Given the description of an element on the screen output the (x, y) to click on. 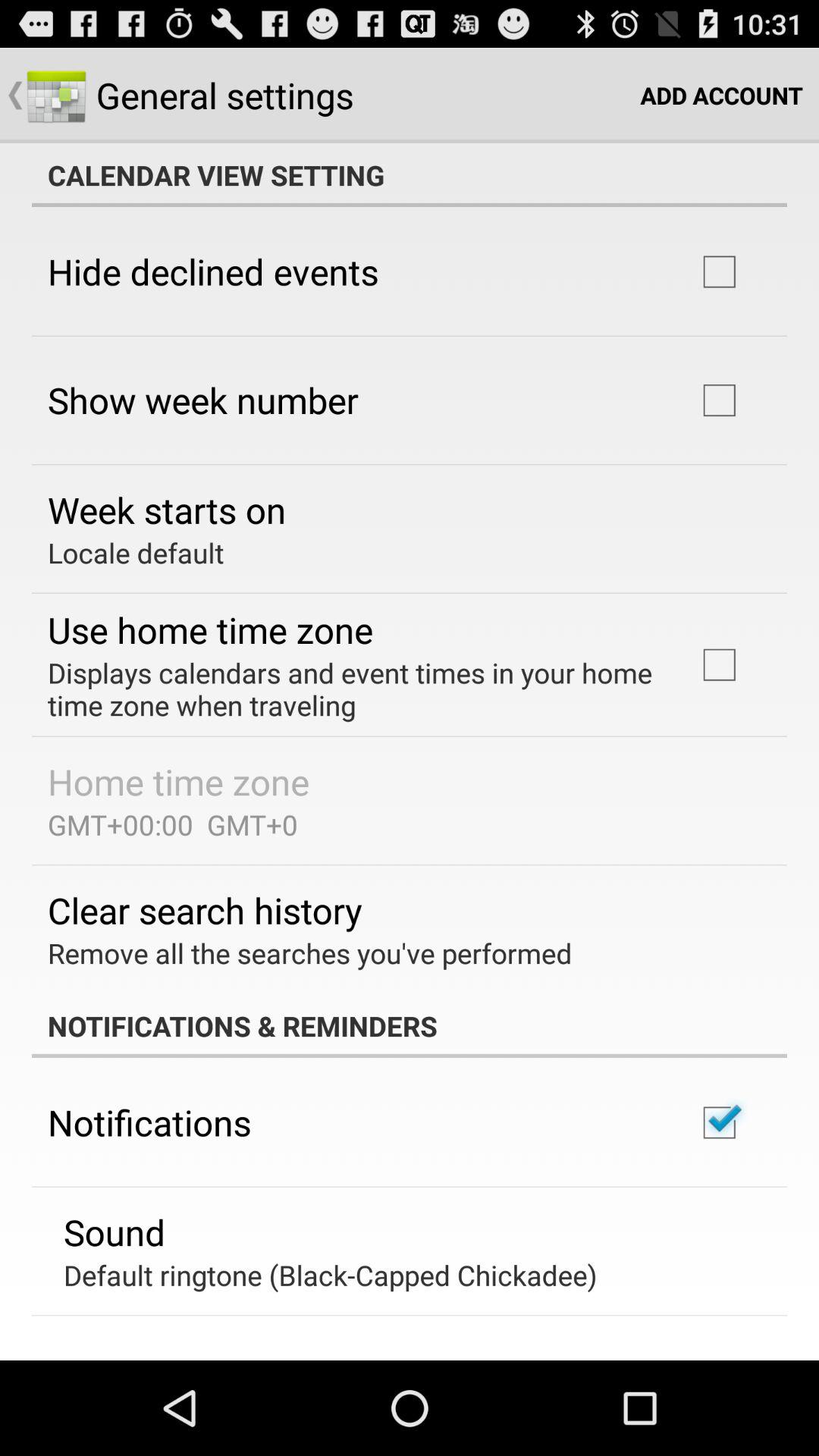
scroll to the displays calendars and app (351, 689)
